Given the description of an element on the screen output the (x, y) to click on. 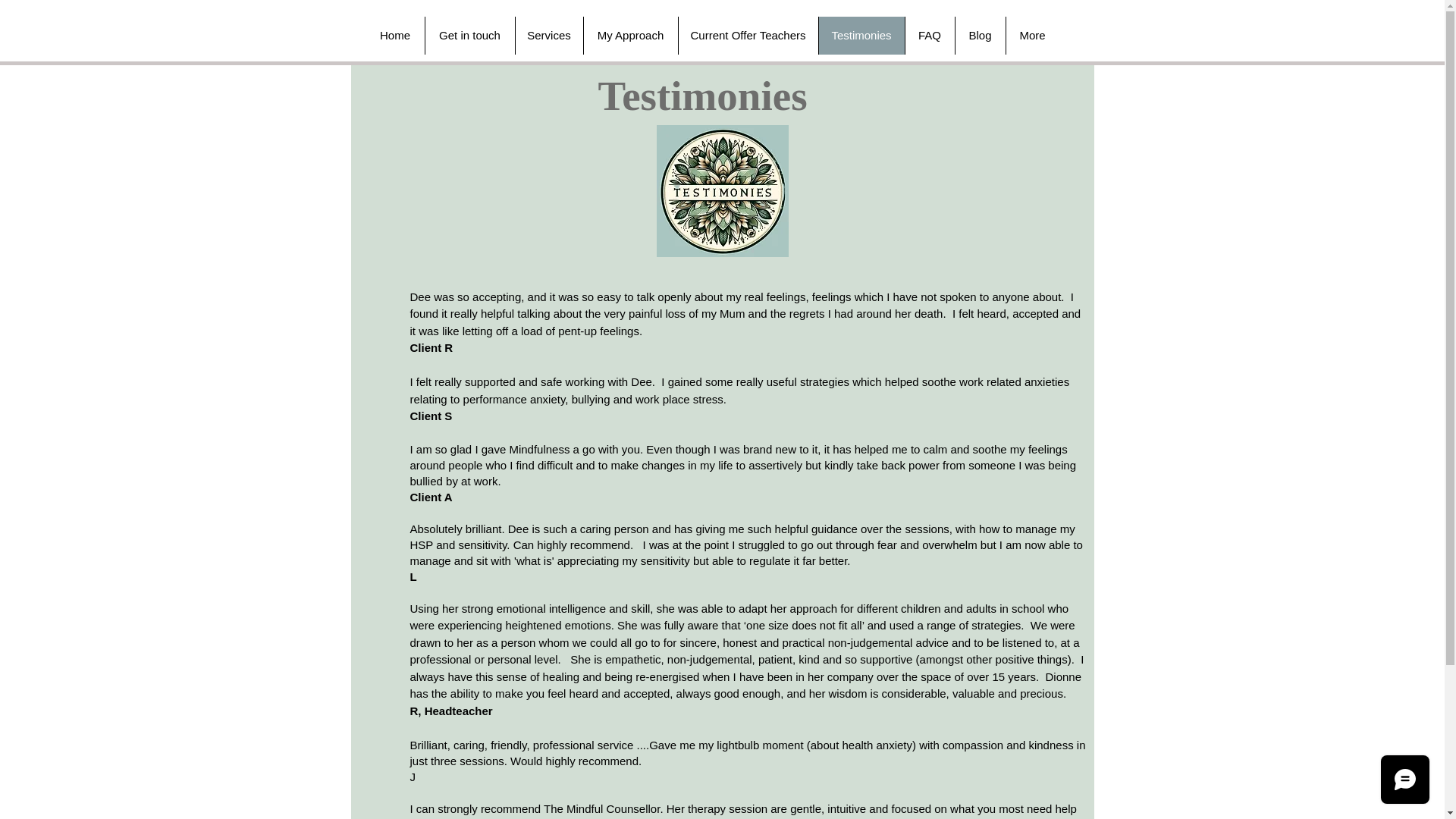
My Approach (629, 35)
Get in touch (470, 35)
Home (394, 35)
Services (547, 35)
Testimonies (860, 35)
FAQ (928, 35)
Current Offer Teachers (748, 35)
Blog (978, 35)
